Given the description of an element on the screen output the (x, y) to click on. 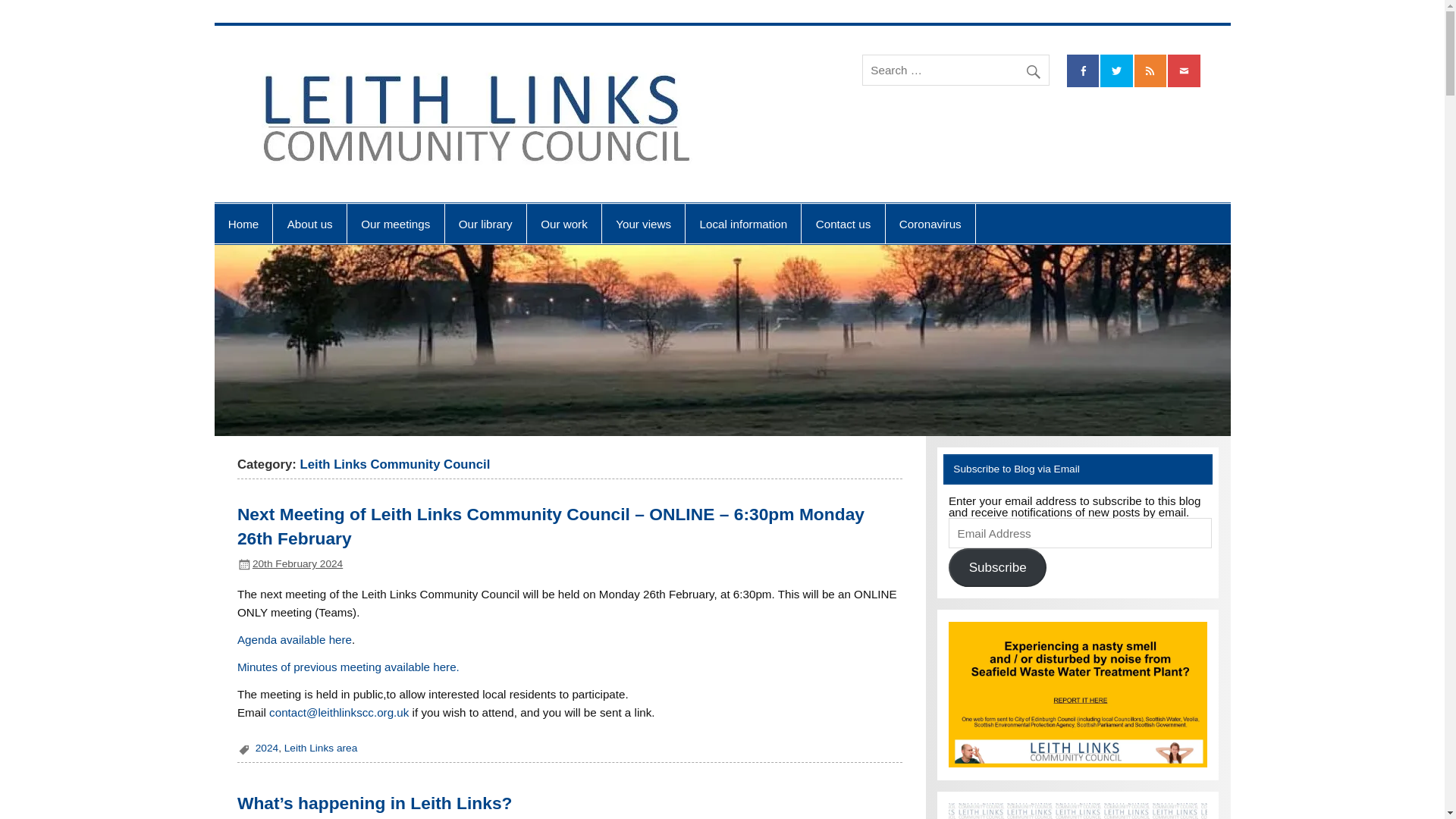
Minutes of previous meeting available here. (348, 666)
Our work (564, 223)
Coronavirus (930, 223)
Leith Links Community Council (932, 69)
Our meetings (395, 223)
Home (243, 223)
Leith Links area (320, 747)
5:08 PM (296, 563)
Your views (643, 223)
Agenda available here (294, 639)
About us (309, 223)
20th February 2024 (296, 563)
Contact us (842, 223)
2024 (267, 747)
